Given the description of an element on the screen output the (x, y) to click on. 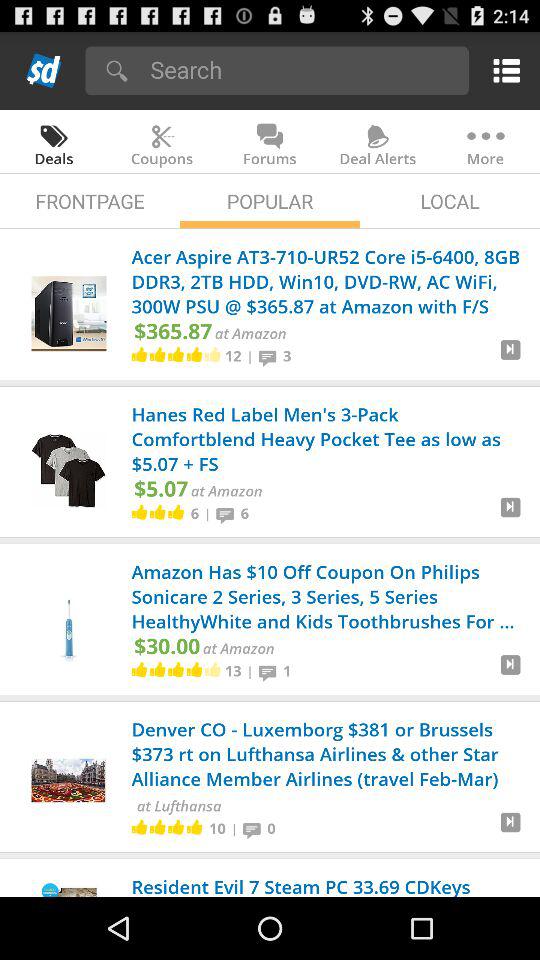
choose app to the left of the popular app (90, 200)
